Given the description of an element on the screen output the (x, y) to click on. 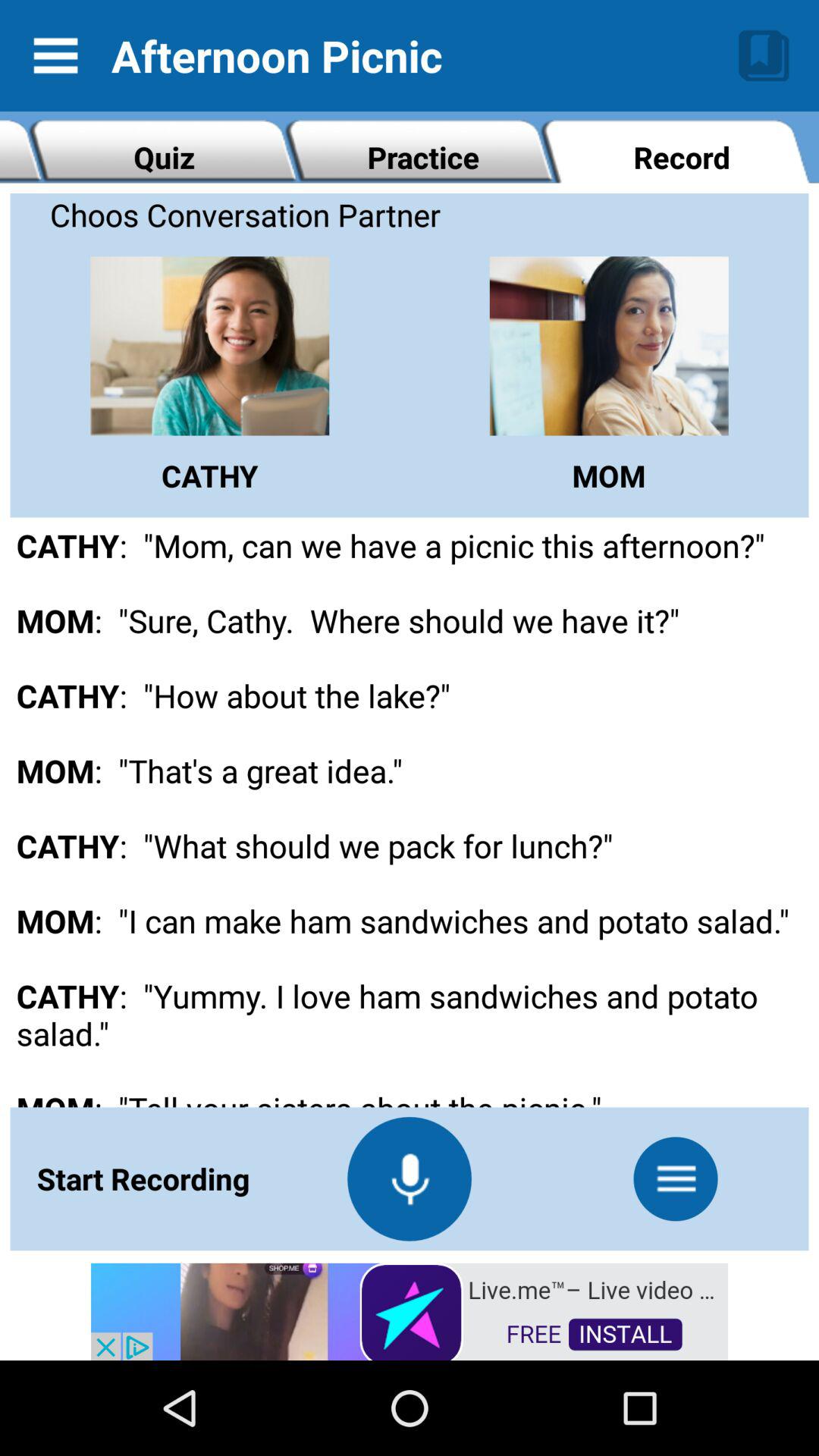
advertisement (409, 1310)
